Given the description of an element on the screen output the (x, y) to click on. 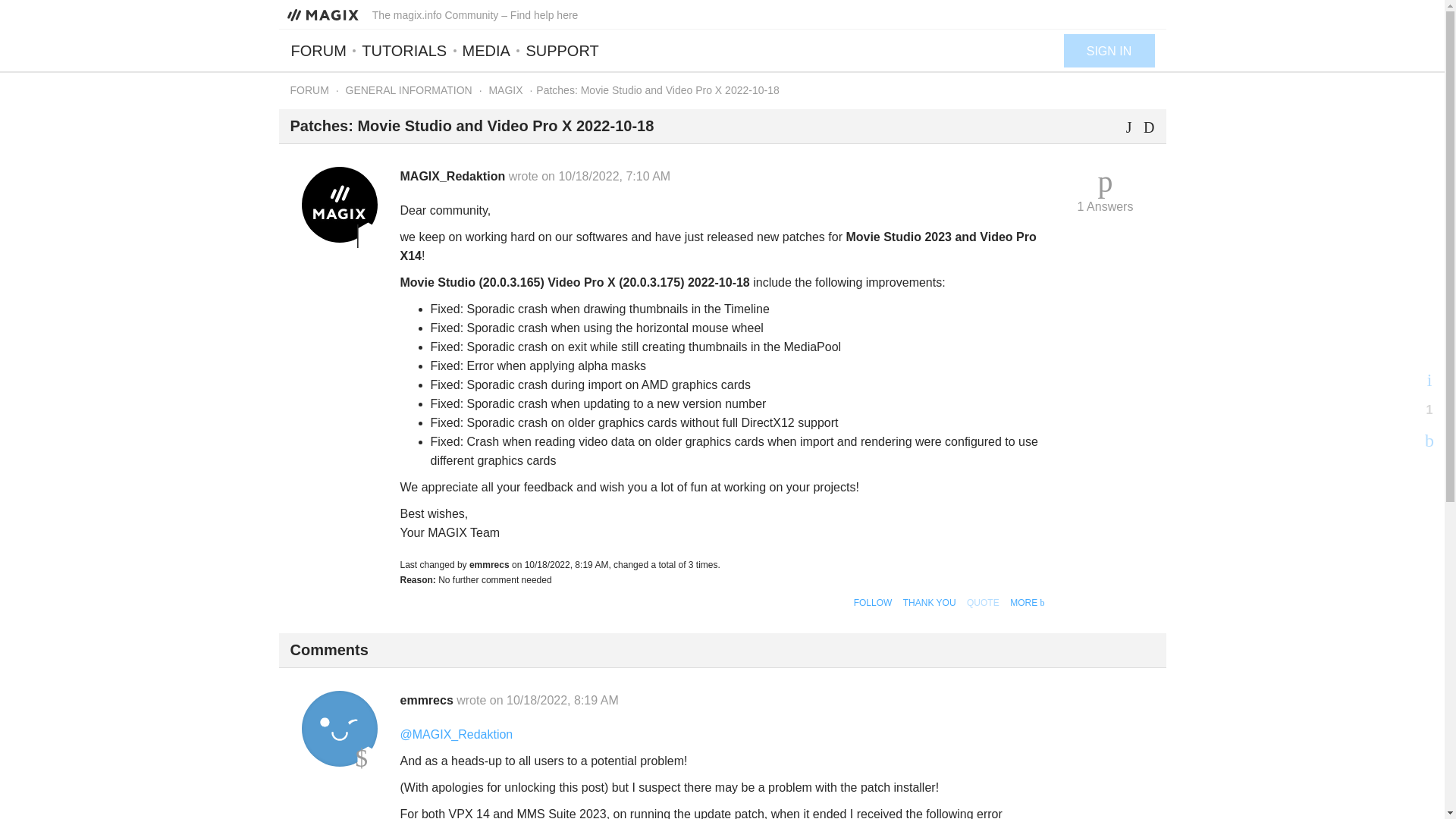
FORUM (321, 49)
TUTORIALS (403, 49)
1 Answers (1105, 191)
SIGN IN (1108, 49)
GENERAL INFORMATION (408, 90)
FORUM (309, 90)
THANK YOU (929, 603)
emmrecs (339, 728)
Go to last comment (1105, 191)
SUPPORT (561, 49)
